Given the description of an element on the screen output the (x, y) to click on. 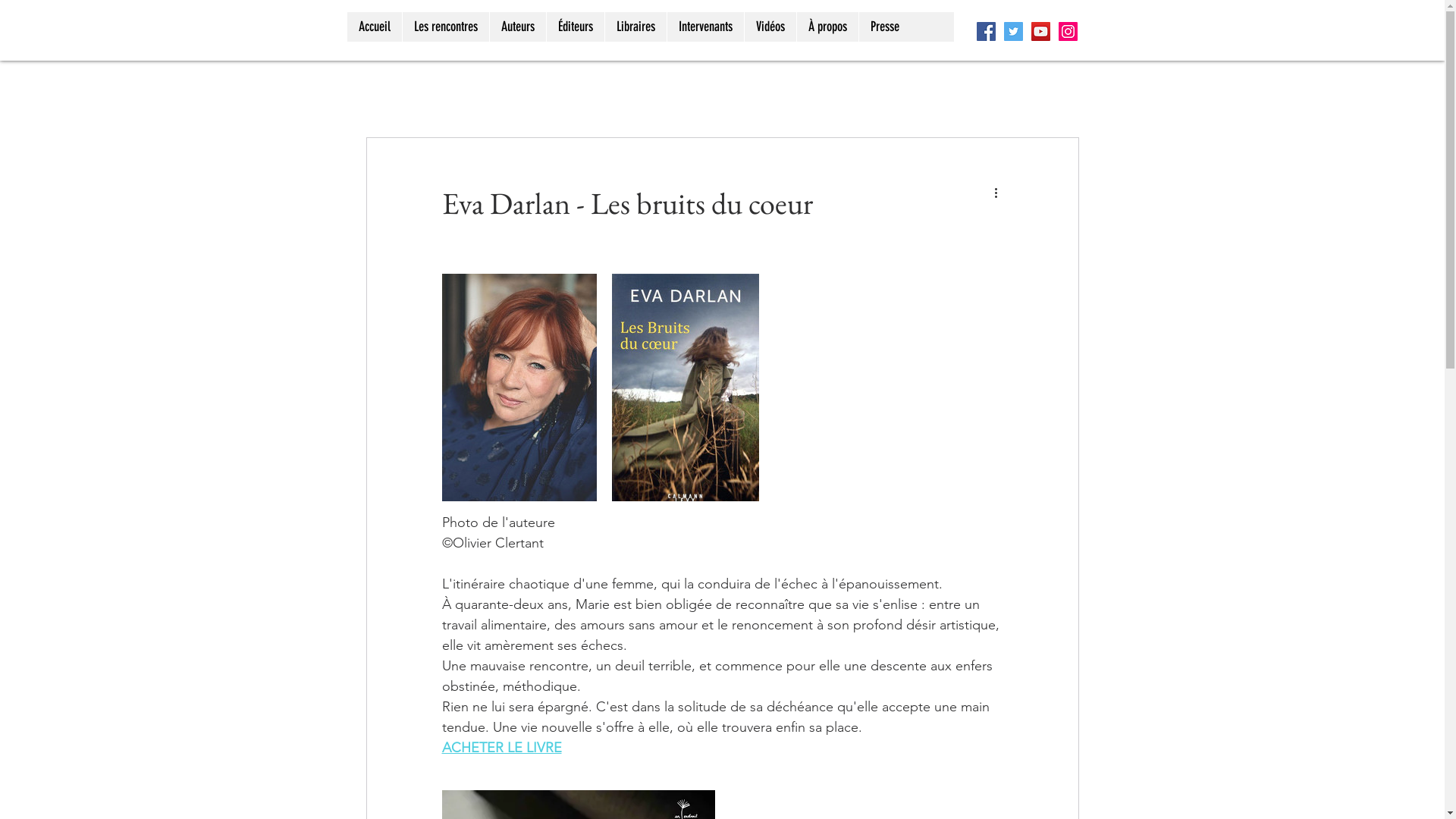
Presse Element type: text (884, 26)
Les rencontres Element type: text (445, 26)
Accueil Element type: text (374, 26)
ACHETER LE LIVRE Element type: text (501, 747)
Libraires Element type: text (634, 26)
Auteurs Element type: text (516, 26)
Intervenants Element type: text (704, 26)
